Given the description of an element on the screen output the (x, y) to click on. 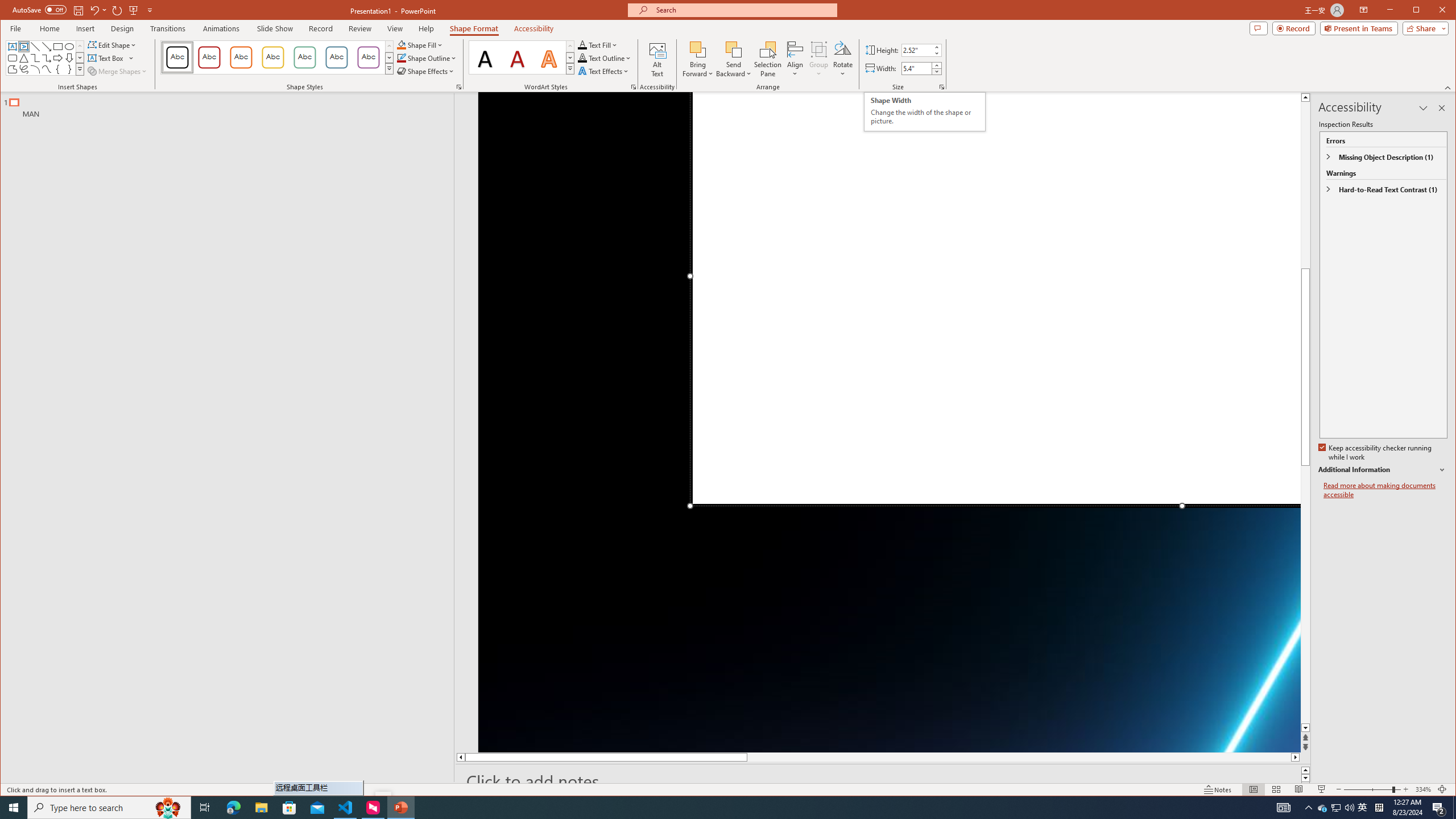
Shape Height (916, 50)
Text Outline RGB(0, 0, 0) (582, 57)
Rotate (842, 59)
Fill: Dark Red, Accent color 1; Shadow (517, 57)
Neon laser lights aligned to form a triangle (889, 421)
